Given the description of an element on the screen output the (x, y) to click on. 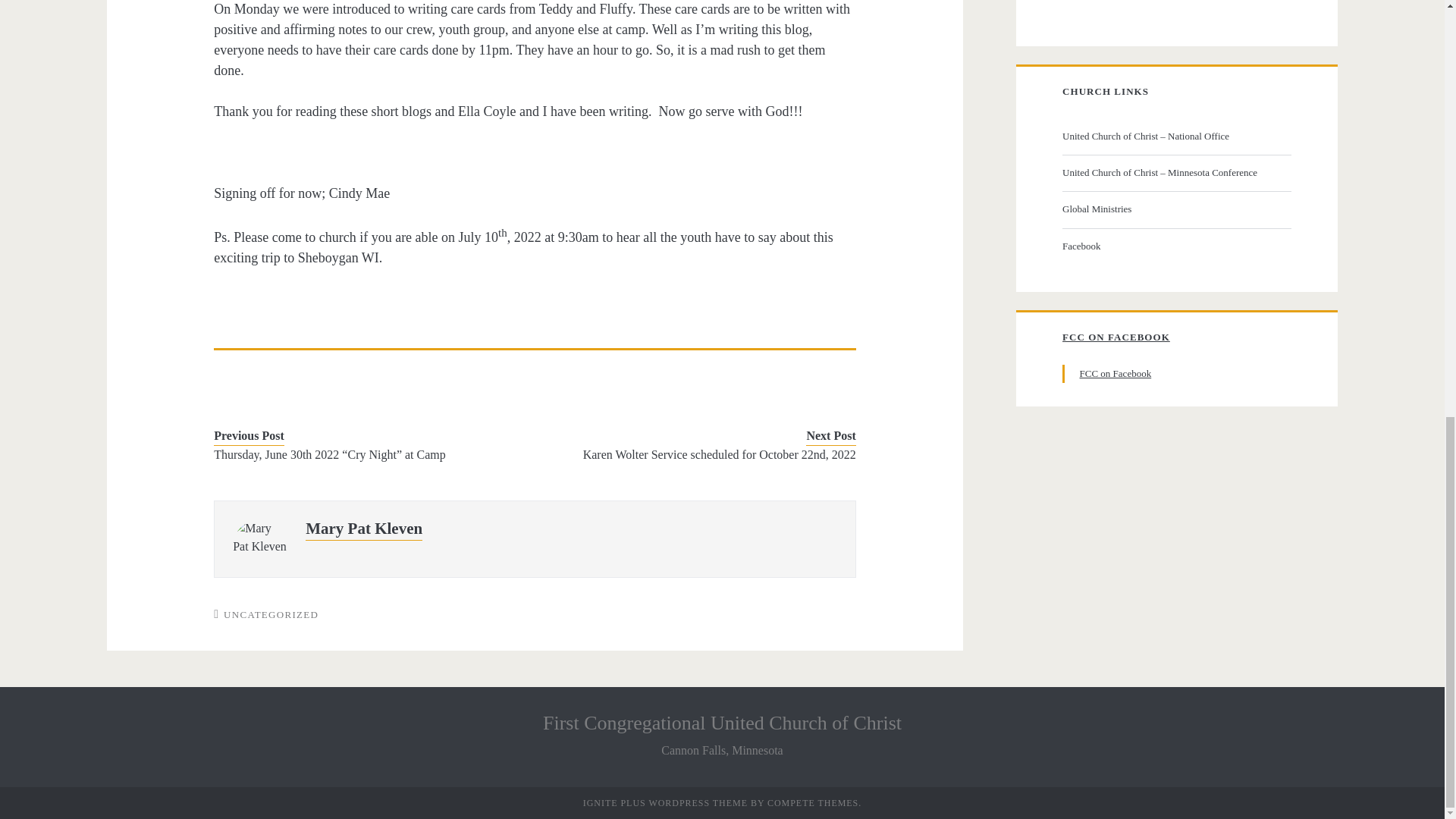
God is still speaking. All the people welcome here. (1174, 136)
FCC ON FACEBOOK (1116, 337)
Global Ministries (1174, 208)
FCC on Facebook (1115, 373)
Facebook (1174, 246)
View all posts in Uncategorized (271, 614)
Karen Wolter Service scheduled for October 22nd, 2022 (708, 454)
IGNITE PLUS WORDPRESS THEME (665, 802)
First Congregational United Church of Christ (722, 722)
UNCATEGORIZED (271, 614)
